Given the description of an element on the screen output the (x, y) to click on. 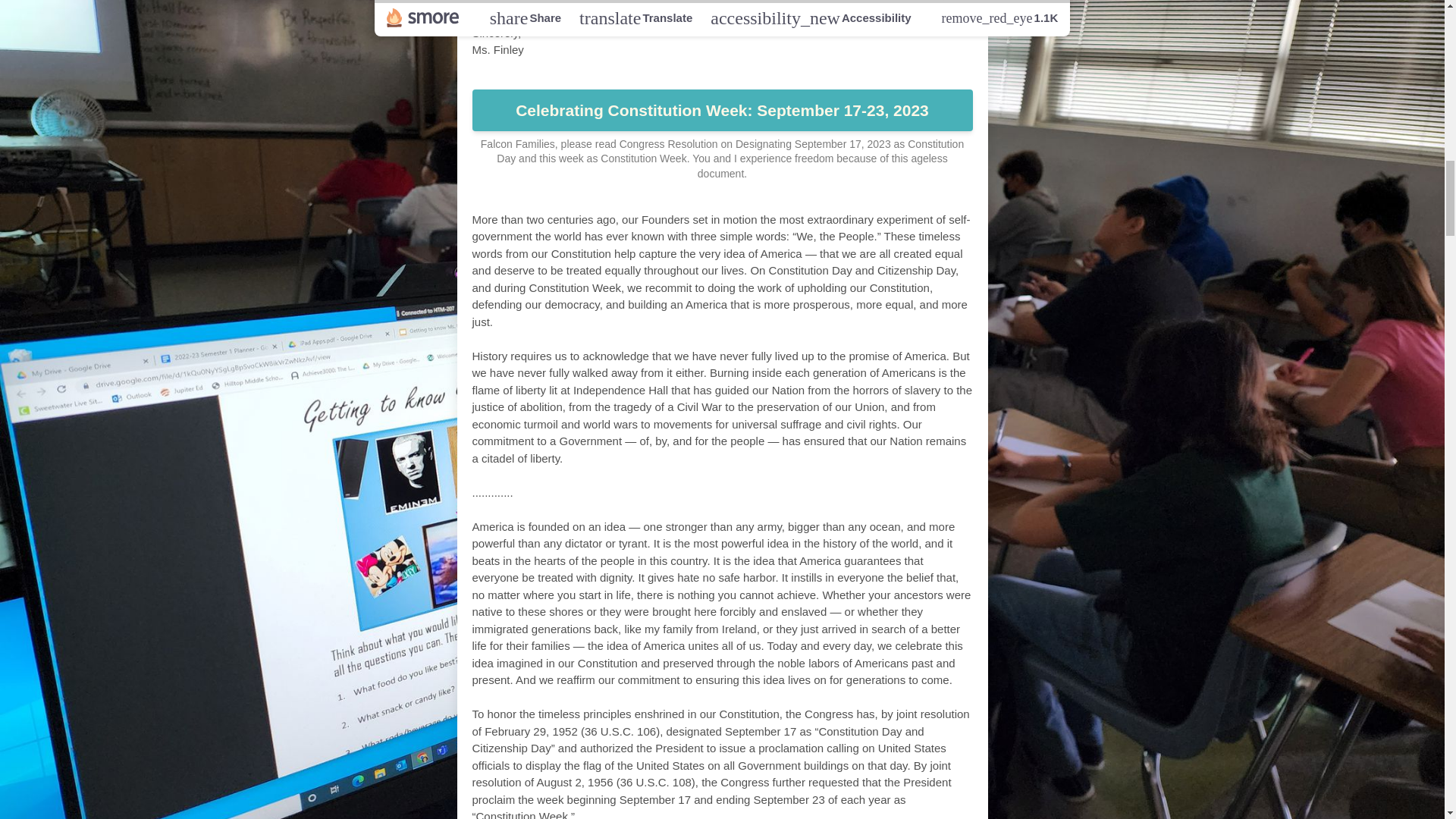
Celebrating Constitution Week: September 17-23, 2023 (721, 110)
